Given the description of an element on the screen output the (x, y) to click on. 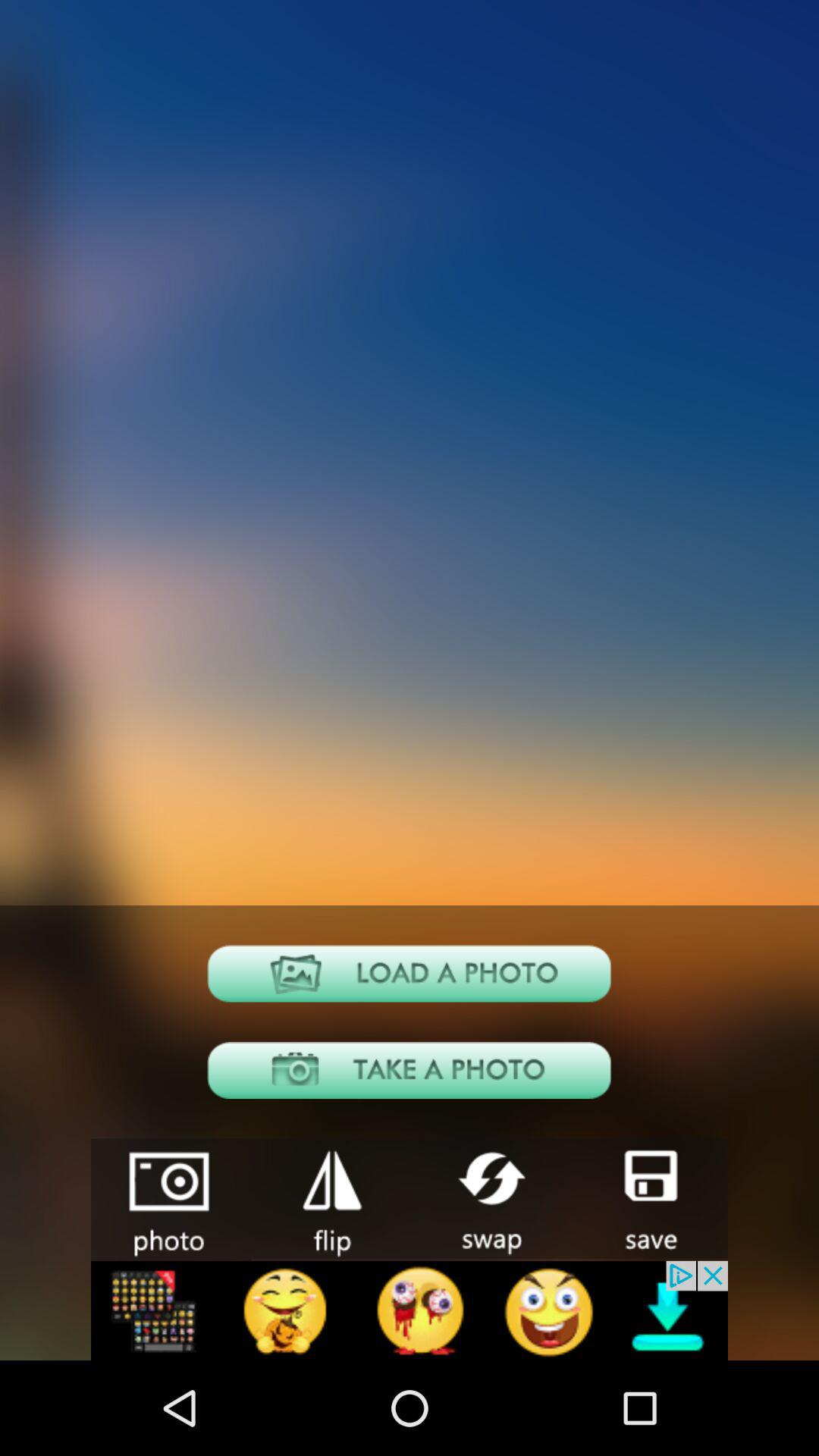
flip image (330, 1198)
